Given the description of an element on the screen output the (x, y) to click on. 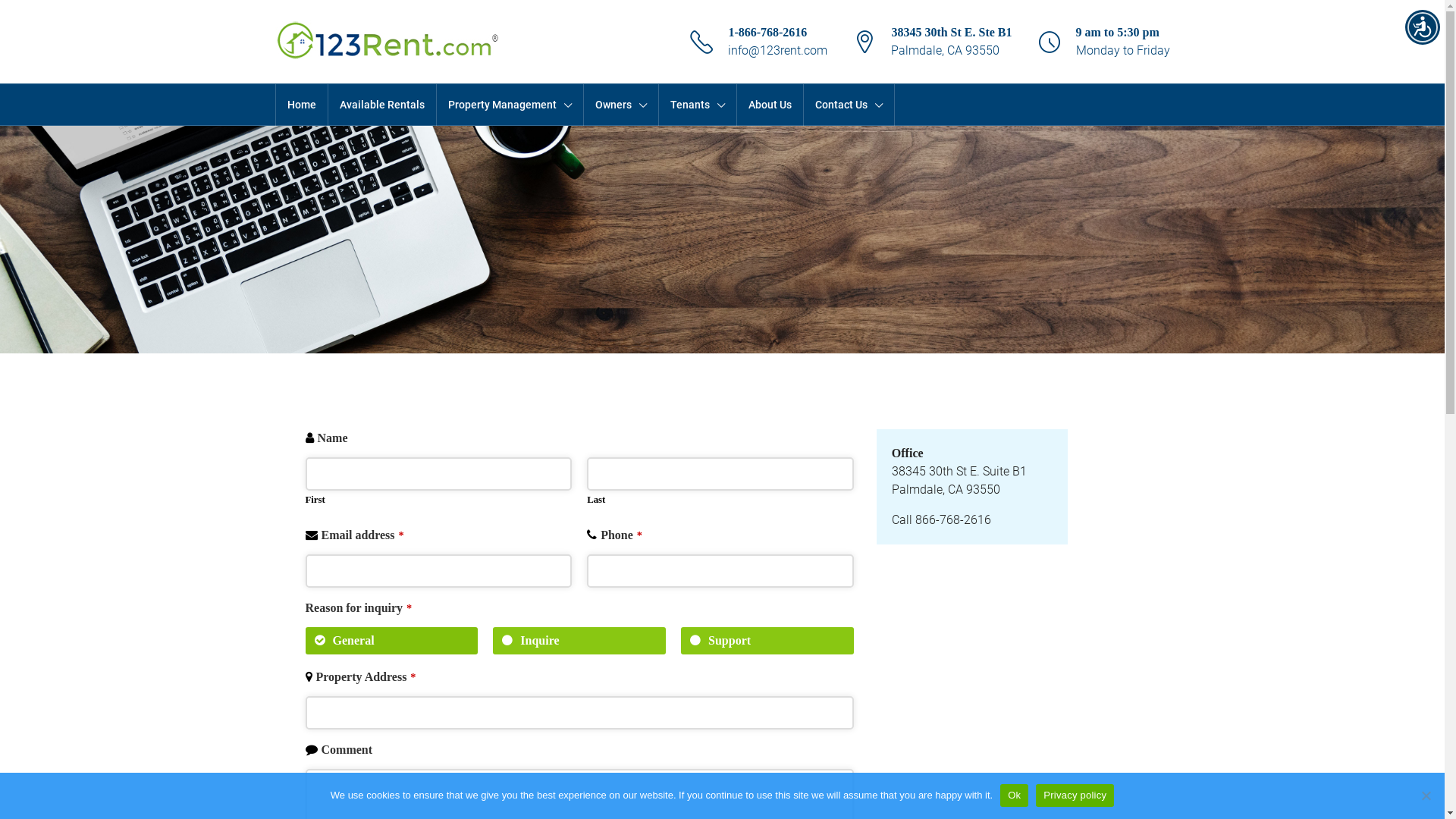
Privacy policy Element type: text (1074, 795)
No Element type: hover (1425, 795)
About Us Element type: text (770, 104)
Tenants Element type: text (696, 104)
1-866-768-2616 Element type: text (767, 31)
Owners Element type: text (620, 104)
Available Rentals Element type: text (381, 104)
info@123rent.com Element type: text (777, 50)
Ok Element type: text (1014, 795)
Contact Us Element type: text (848, 104)
Home Element type: text (301, 104)
Property Management Element type: text (509, 104)
